Given the description of an element on the screen output the (x, y) to click on. 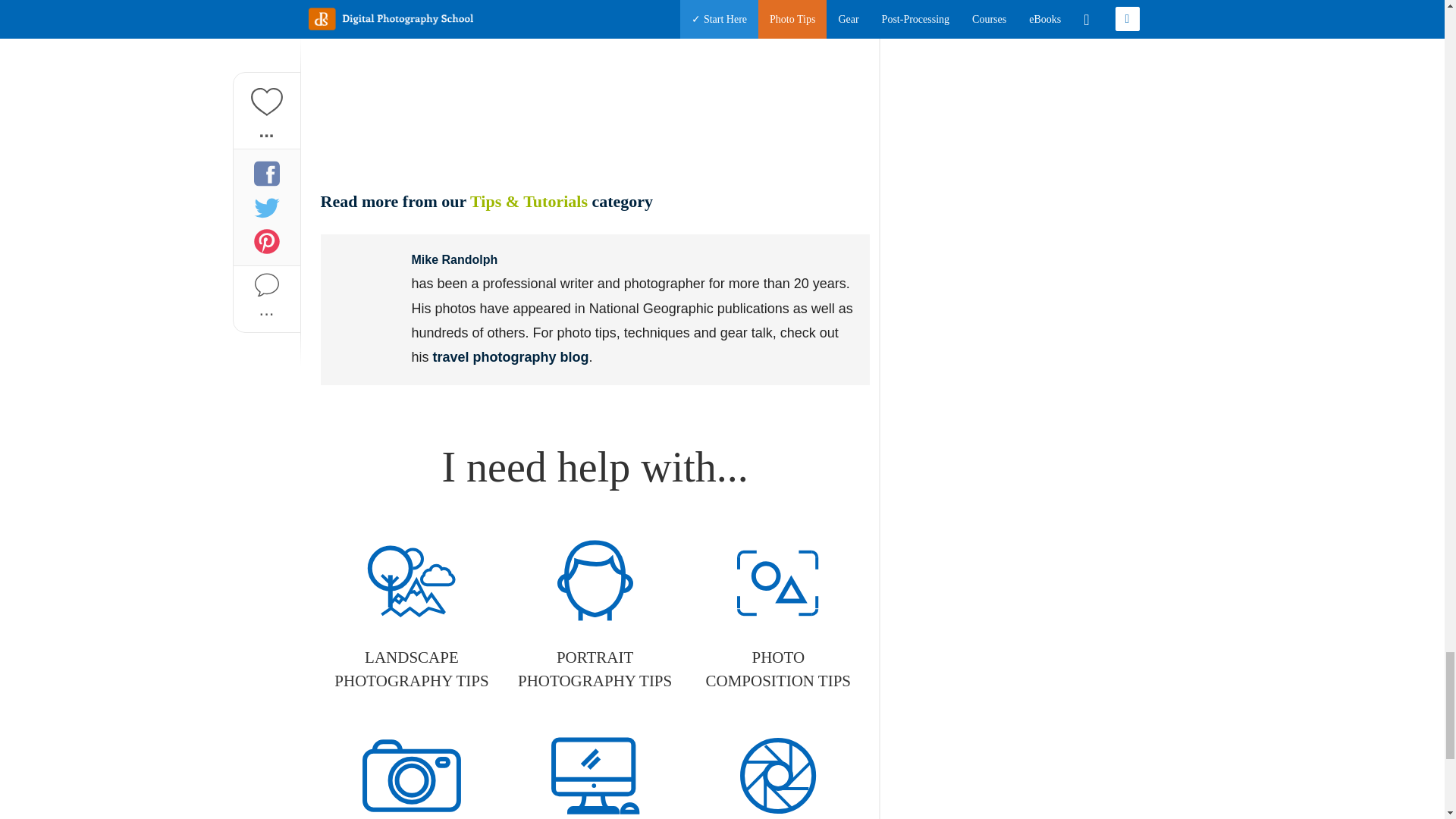
Portrait Photography Tips (595, 615)
Mike Randolph (365, 279)
Landscape Photography Tips (411, 615)
Mike Randolph (453, 259)
